Given the description of an element on the screen output the (x, y) to click on. 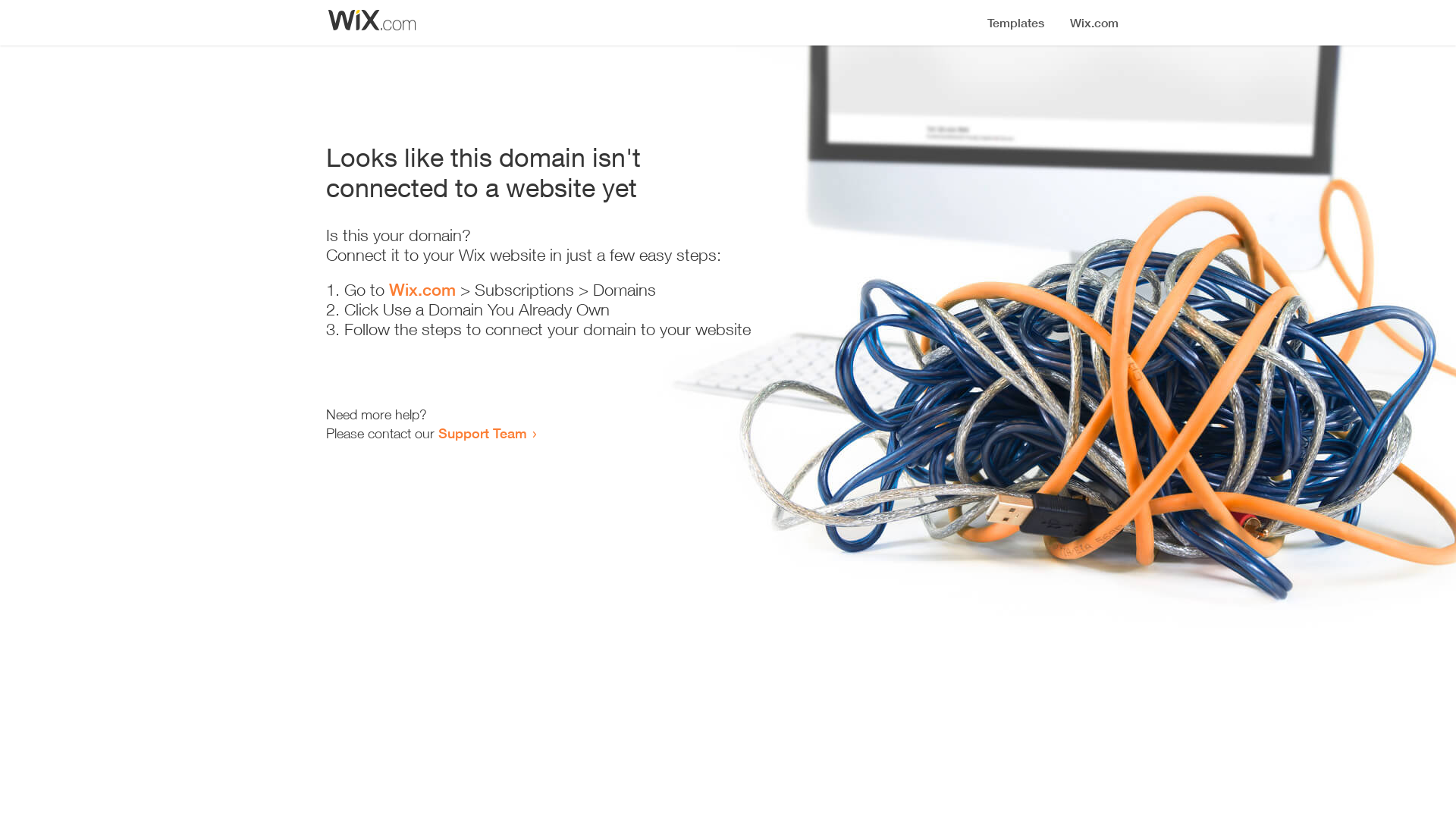
Support Team Element type: text (482, 432)
Wix.com Element type: text (422, 289)
